Given the description of an element on the screen output the (x, y) to click on. 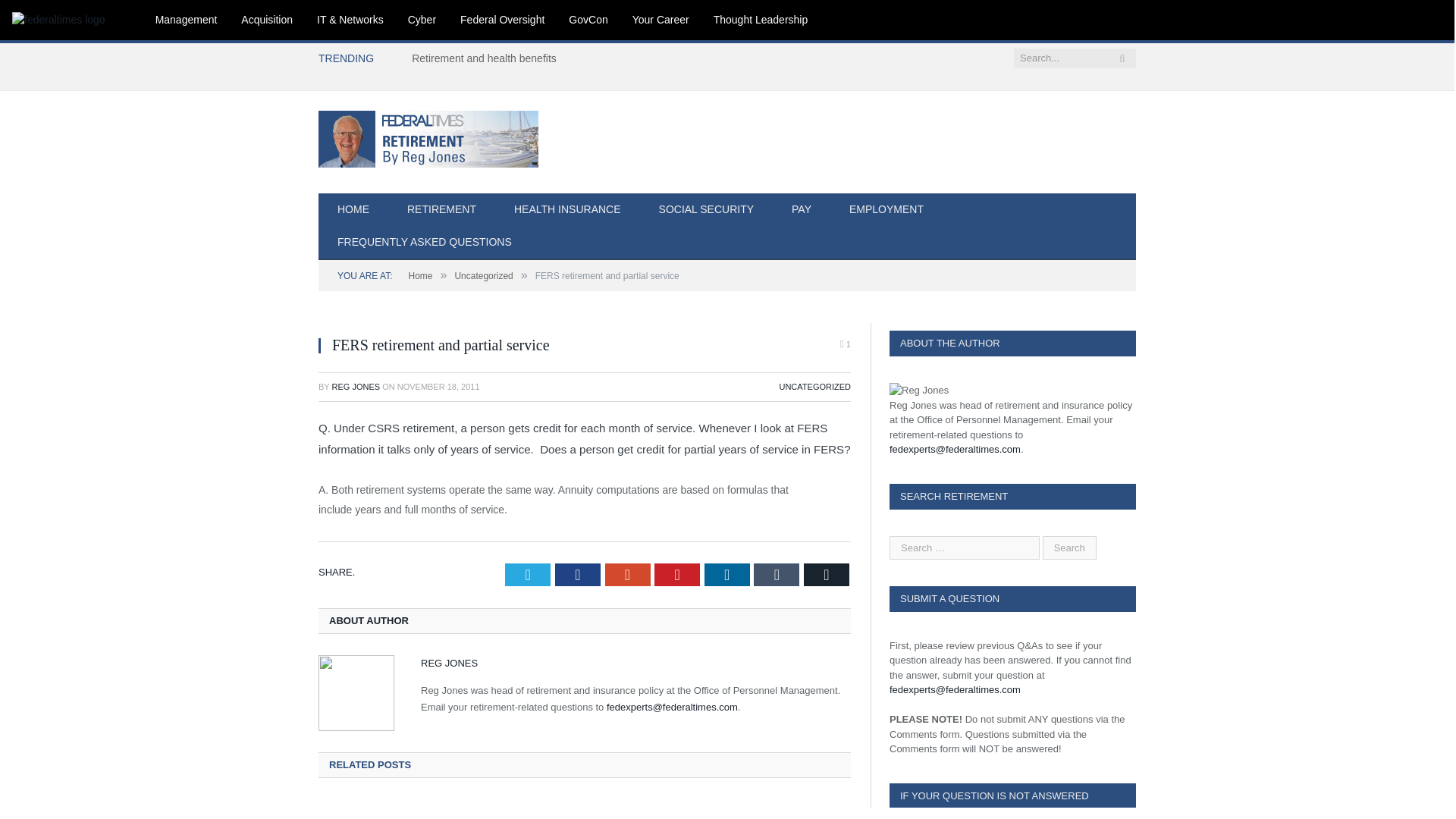
Thought Leadership (761, 19)
Share on Facebook (576, 574)
Management (186, 19)
Retirement and health benefits (488, 58)
HEALTH INSURANCE (567, 210)
UNCATEGORIZED (814, 386)
HOME (353, 210)
Facebook (576, 574)
Acquisition (266, 19)
Federal Oversight (502, 19)
